Given the description of an element on the screen output the (x, y) to click on. 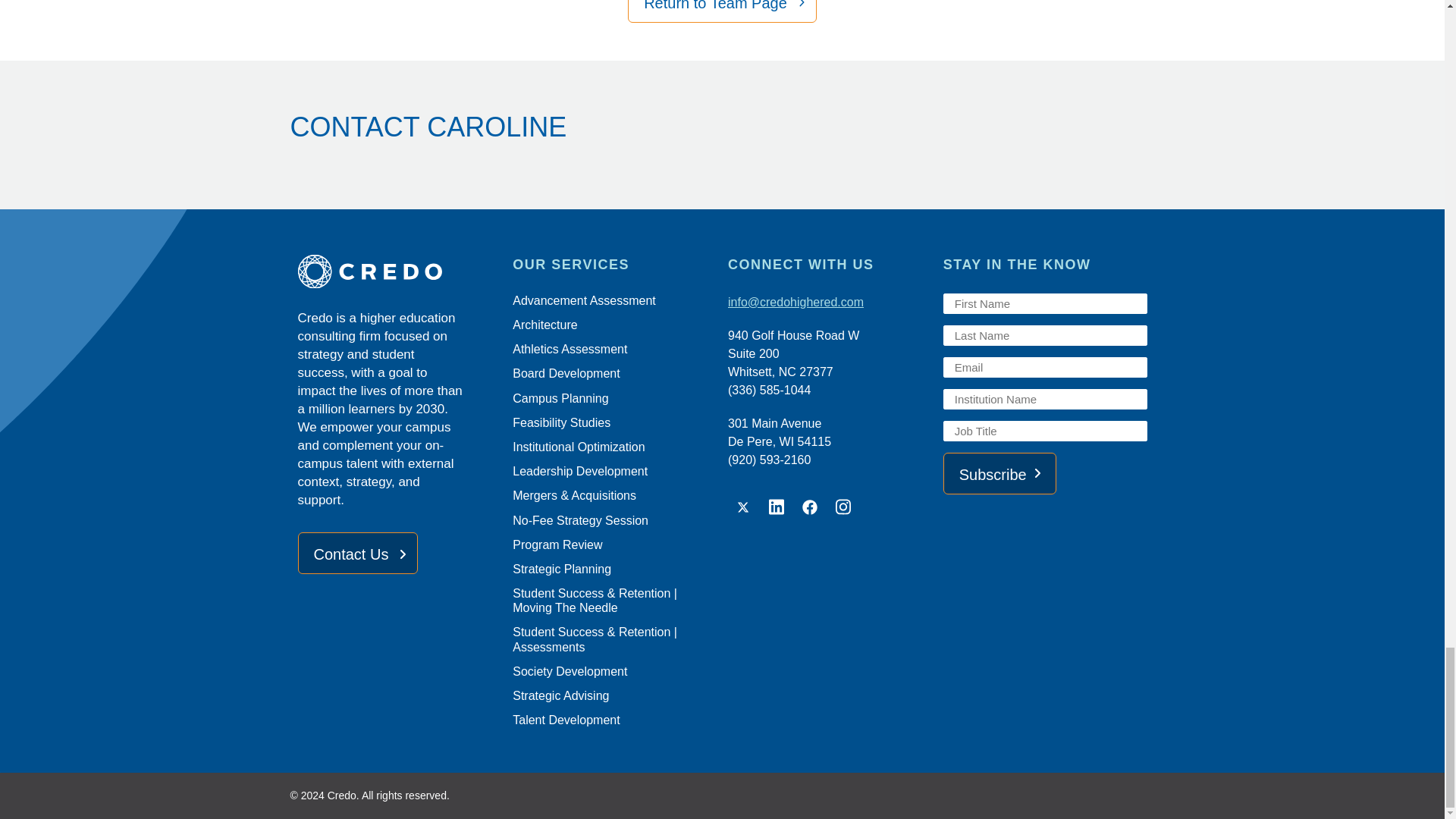
Subscribe (999, 473)
Connect With Us On Facebook (809, 507)
Connect With Us On Instagram (843, 507)
Connect With Us On Twitter (743, 507)
Connect With Us On Linkedin (776, 507)
Back to Credo's Home (398, 274)
